Given the description of an element on the screen output the (x, y) to click on. 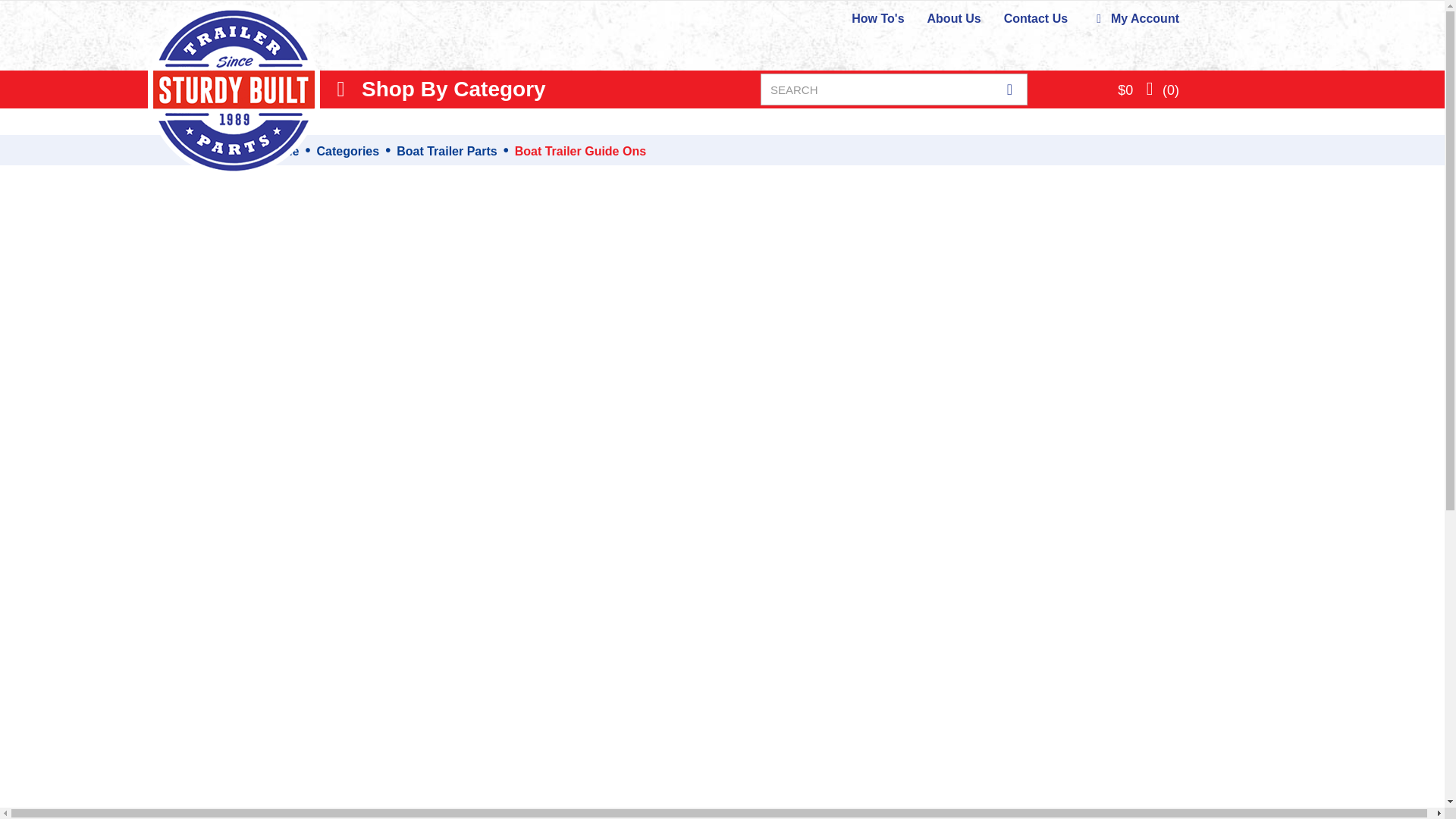
About Us (954, 18)
Home (281, 151)
My Account (1134, 18)
Categories (346, 151)
Contact Us (1035, 18)
Boat Trailer Guide Ons (580, 151)
Boat Trailer Parts (446, 151)
Shop By Category (437, 89)
How To's (877, 18)
